Given the description of an element on the screen output the (x, y) to click on. 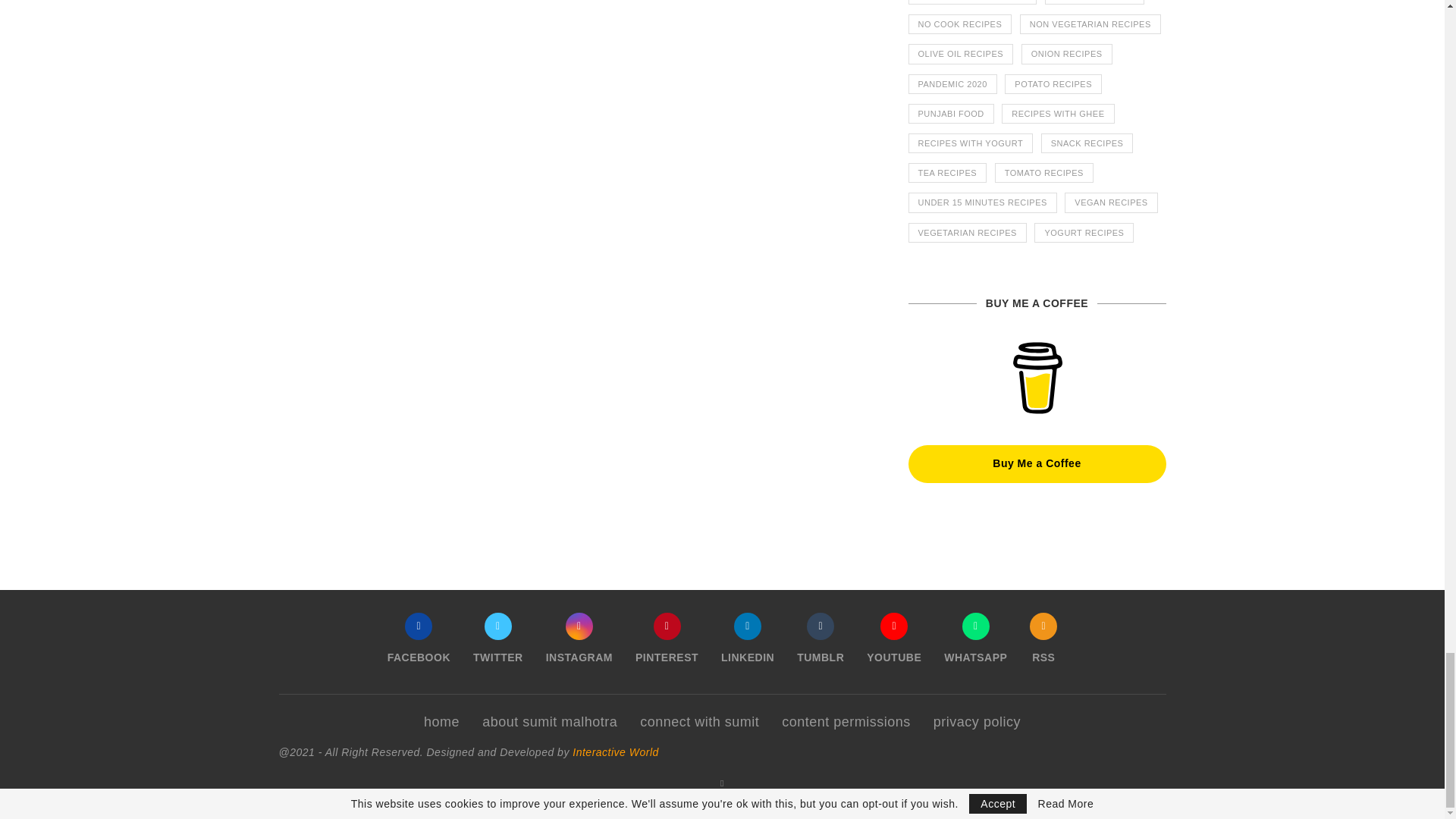
Buy Me a Coffee (1037, 378)
